Given the description of an element on the screen output the (x, y) to click on. 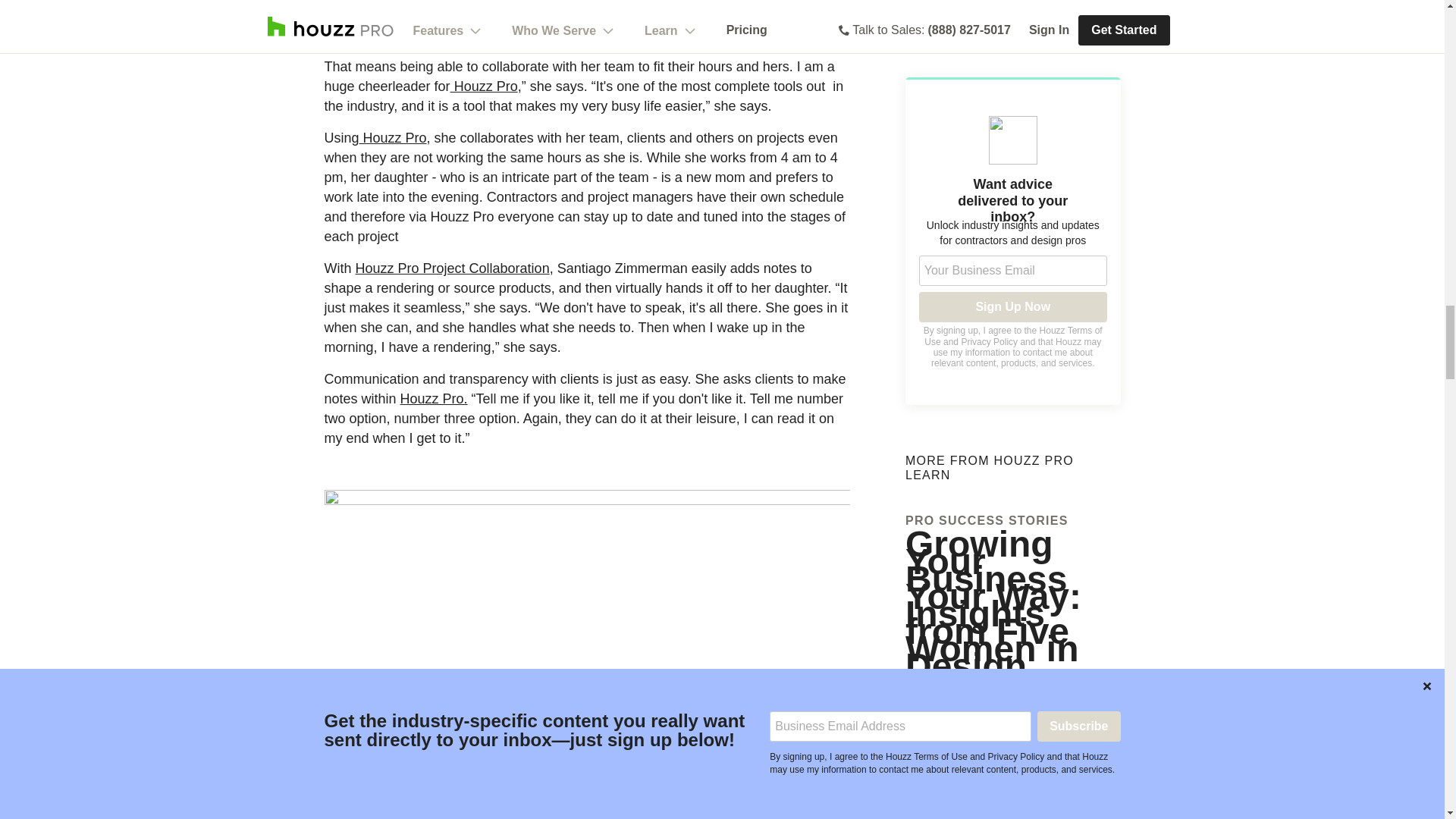
Houzz Pro Project Collaboration (452, 268)
Houzz Pro (392, 137)
Houzz Pro. (433, 398)
Houzz Pro (483, 86)
